Given the description of an element on the screen output the (x, y) to click on. 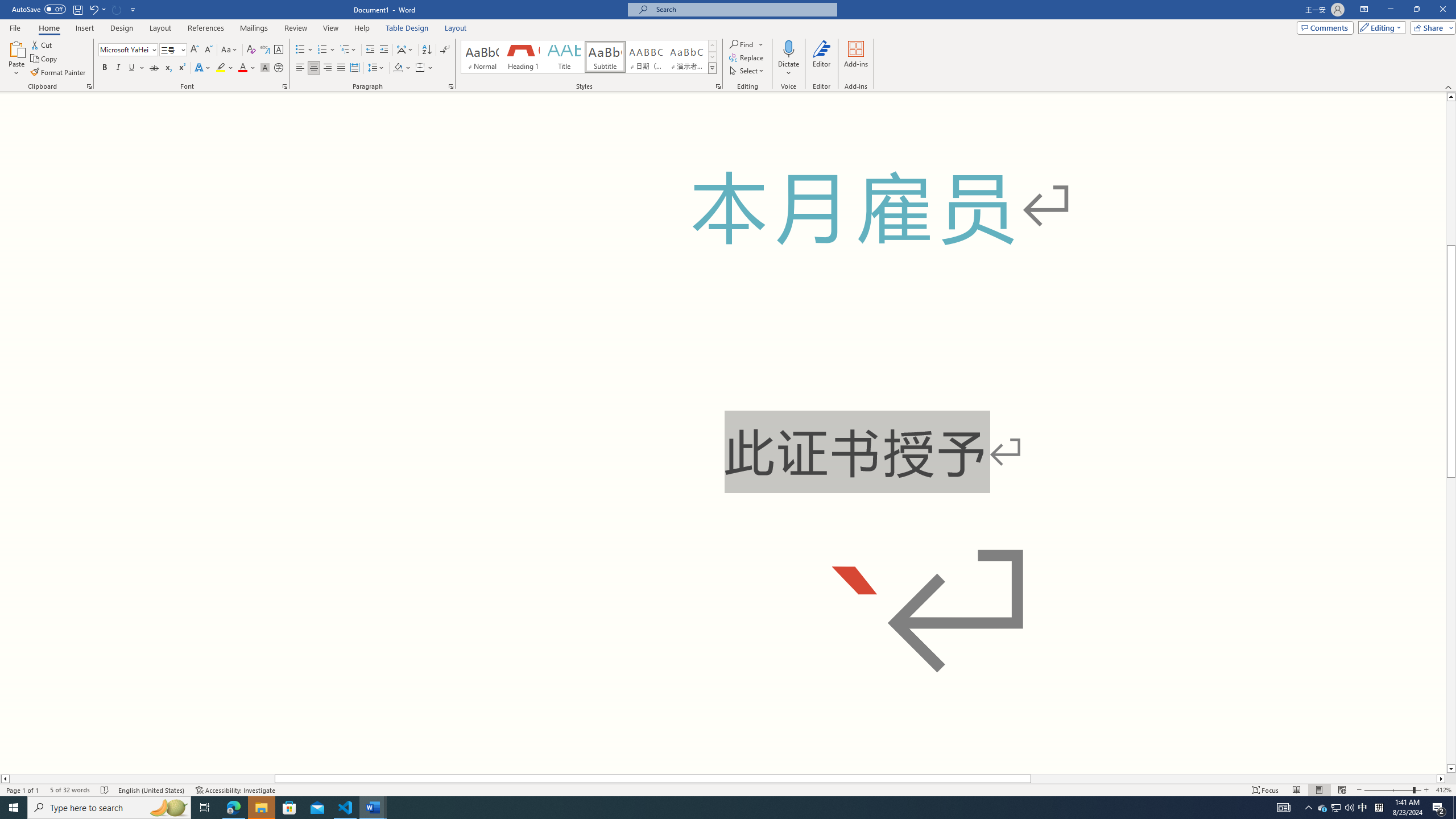
Accessibility Checker Accessibility: Investigate (235, 790)
Heading 1 (522, 56)
Font... (285, 85)
Can't Repeat (117, 9)
Replace... (747, 56)
Styles (711, 67)
Layout (455, 28)
Text Effects and Typography (202, 67)
Page Number Page 1 of 1 (22, 790)
Ribbon Display Options (1364, 9)
Mailings (253, 28)
Page left (142, 778)
